Given the description of an element on the screen output the (x, y) to click on. 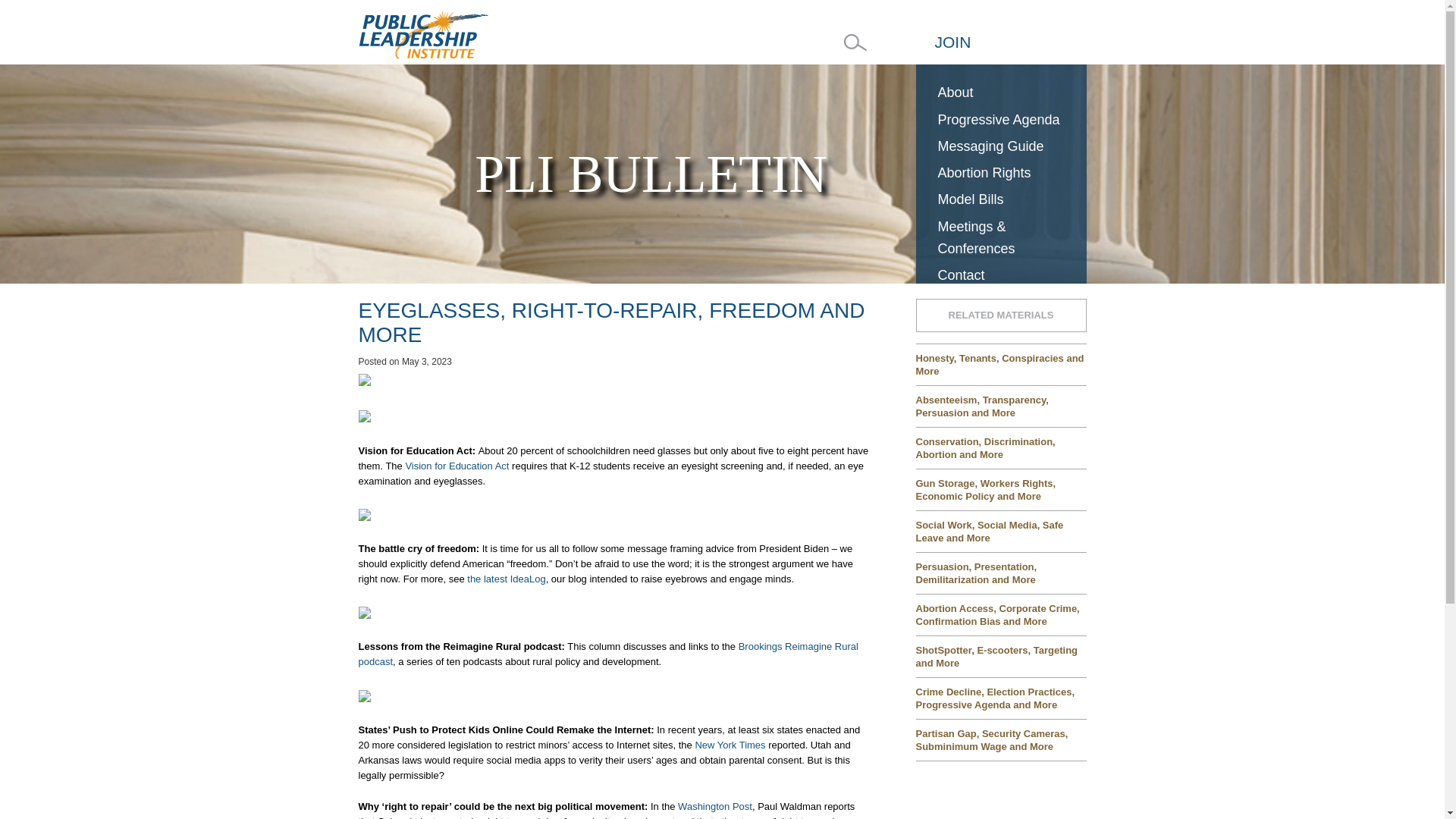
Social Work, Social Media, Safe Leave and More (1000, 531)
Partisan Gap, Security Cameras, Subminimum Wage and More (1000, 739)
Washington Post (715, 806)
Gun Storage, Workers Rights, Economic Policy and More (1000, 488)
Brookings Reimagine Rural podcast (607, 653)
JOIN (952, 41)
Abortion Rights (1000, 172)
Persuasion, Presentation, Demilitarization and More (1000, 572)
ShotSpotter, E-scooters, Targeting and More (1000, 655)
Messaging Guide (1000, 146)
Absenteeism, Transparency, Persuasion and More (1000, 404)
Vision for Education Act (456, 464)
Search efter: (855, 41)
Search (24, 8)
Progressive Agenda (1000, 120)
